Given the description of an element on the screen output the (x, y) to click on. 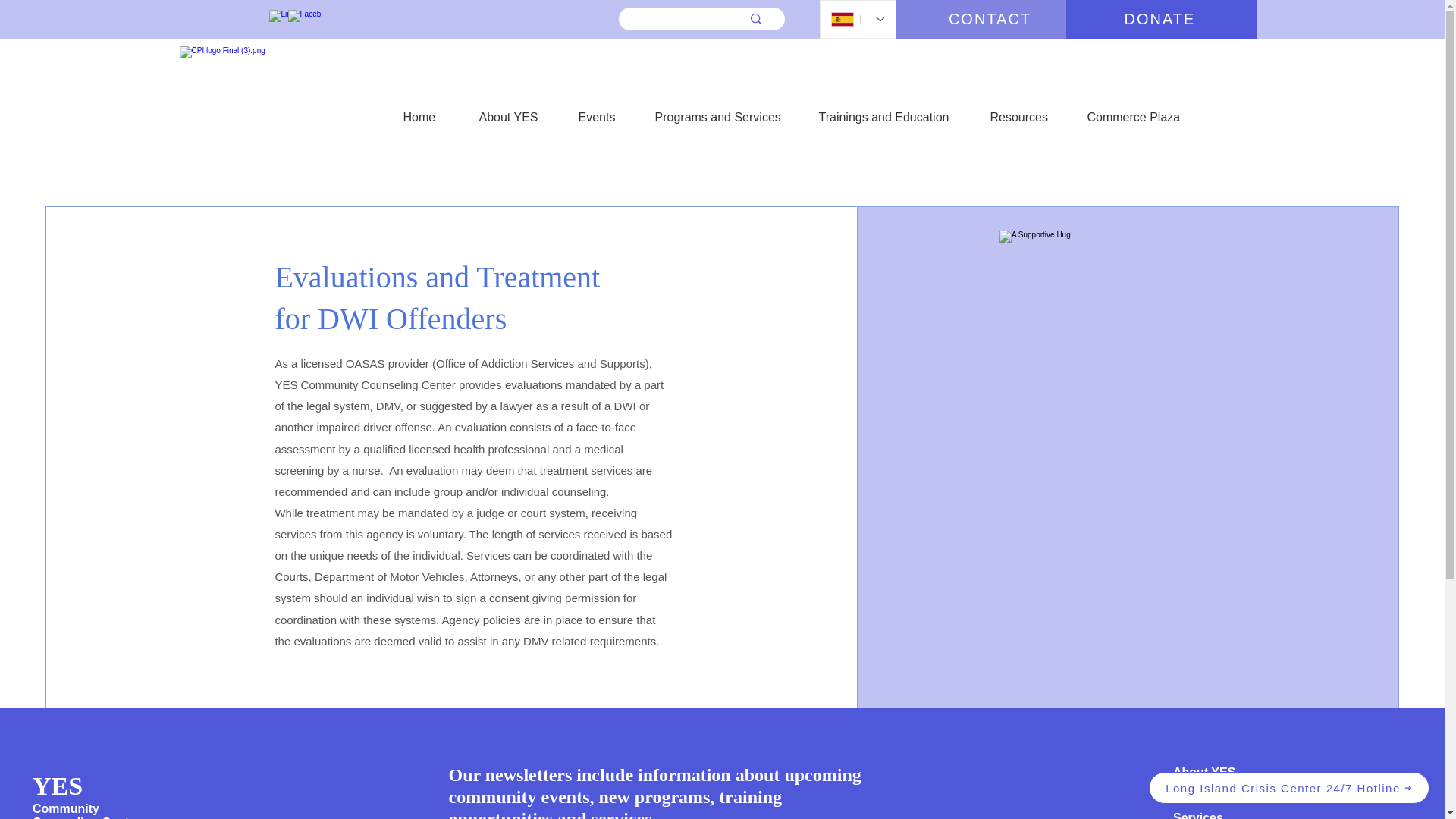
Counseling Center (85, 817)
Events (602, 110)
Resources (1025, 110)
About YES (514, 110)
Commerce Plaza (1140, 110)
DONATE (1161, 19)
Trainings and Education (890, 110)
Home (427, 110)
CONTACT (991, 19)
YES (57, 783)
